Given the description of an element on the screen output the (x, y) to click on. 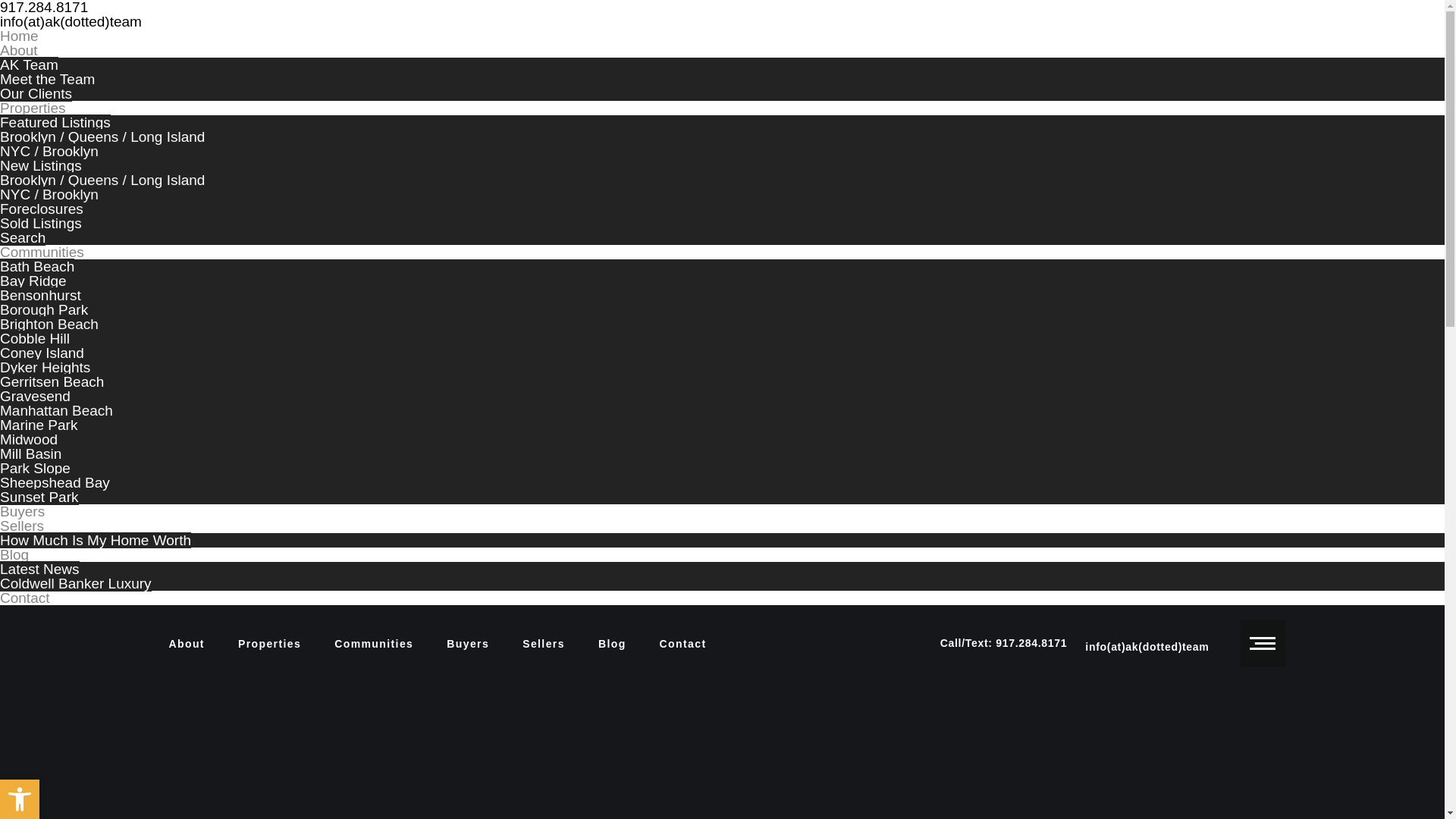
Mill Basin (30, 453)
Latest News (40, 569)
Sunset Park (39, 496)
Home (19, 35)
Borough Park (43, 309)
New Listings (40, 165)
Properties (32, 107)
Foreclosures (41, 208)
Bath Beach (37, 266)
Featured Listings (55, 122)
Midwood (29, 439)
Sellers (21, 525)
Park Slope (34, 467)
Buyers (22, 511)
